Given the description of an element on the screen output the (x, y) to click on. 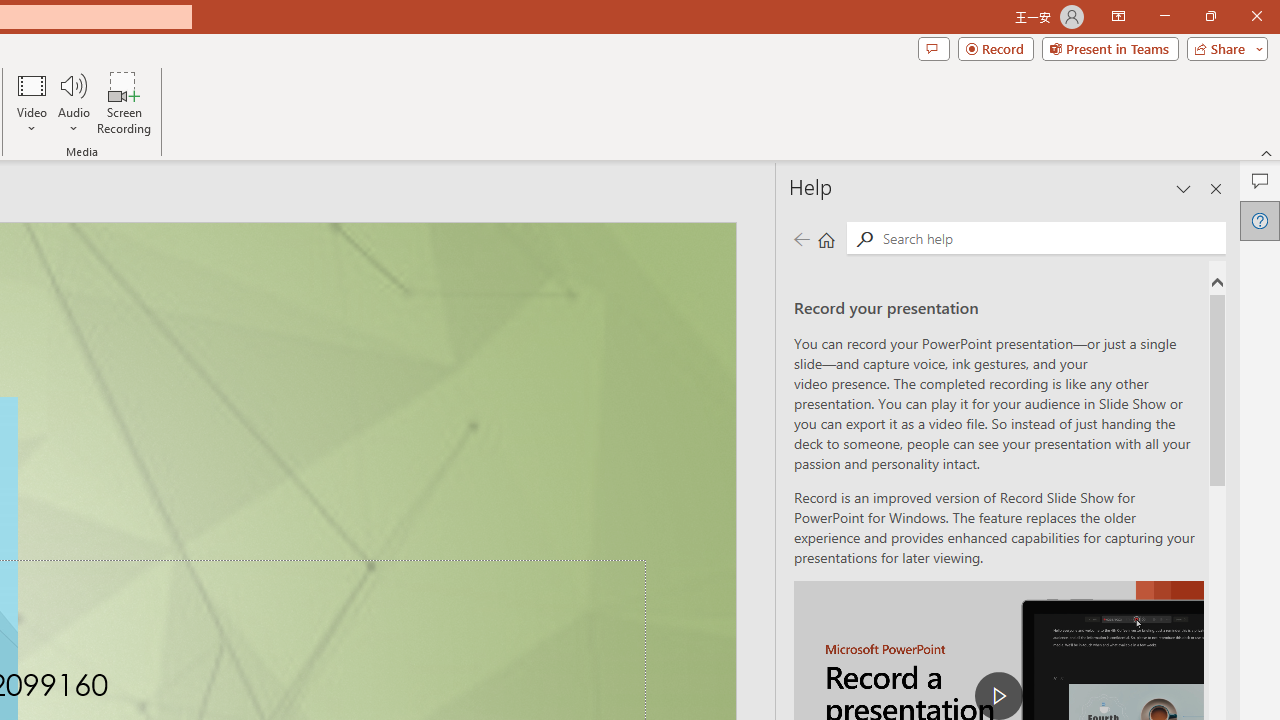
play Record a Presentation (998, 695)
Previous page (801, 238)
Screen Recording... (123, 102)
